Given the description of an element on the screen output the (x, y) to click on. 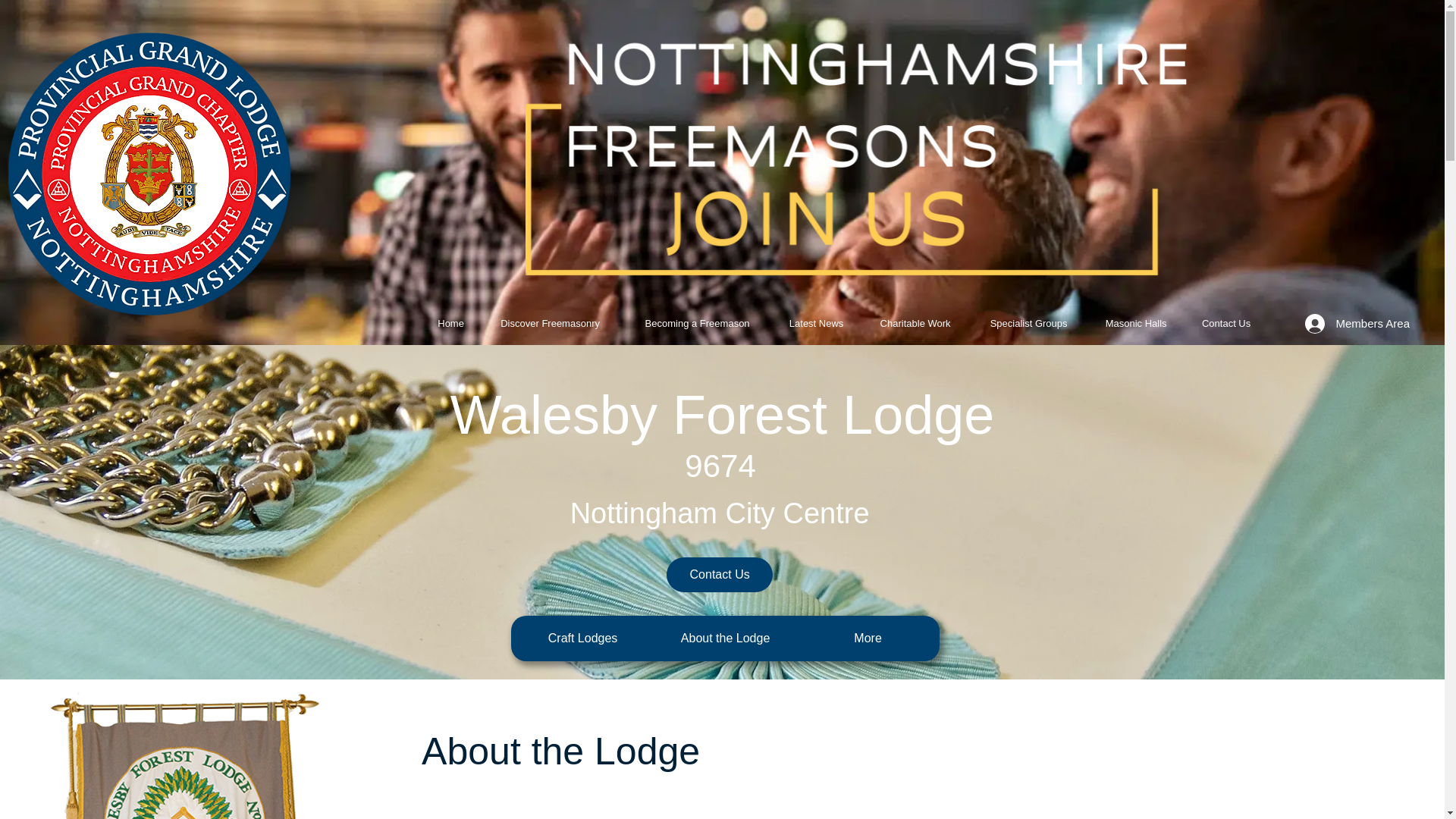
About the Lodge (724, 637)
Becoming a Freemason (698, 323)
Contact Us (1226, 323)
Charitable Work (915, 323)
Contact Us (719, 574)
Home (451, 323)
Latest News (816, 323)
Craft Lodges (582, 637)
Members Area (1357, 323)
